Given the description of an element on the screen output the (x, y) to click on. 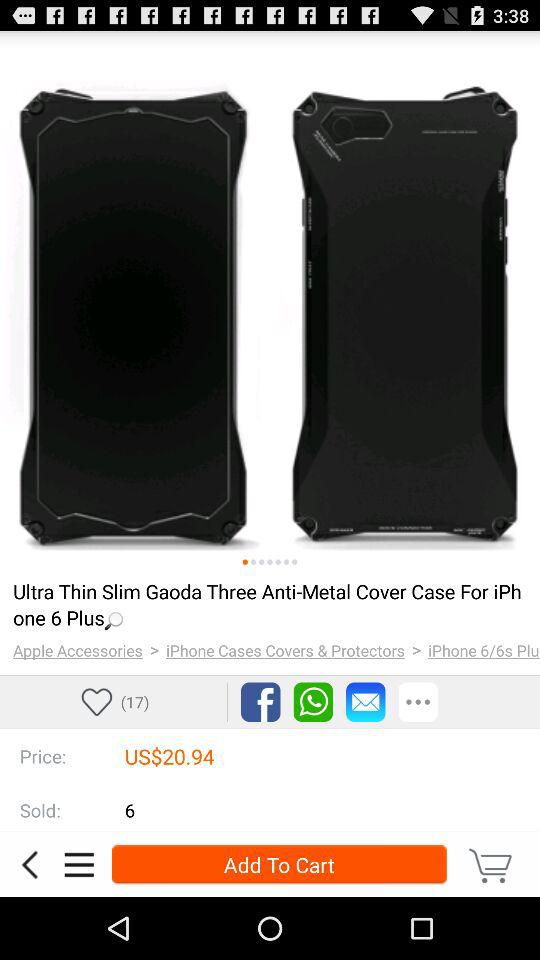
share via email (365, 701)
